Given the description of an element on the screen output the (x, y) to click on. 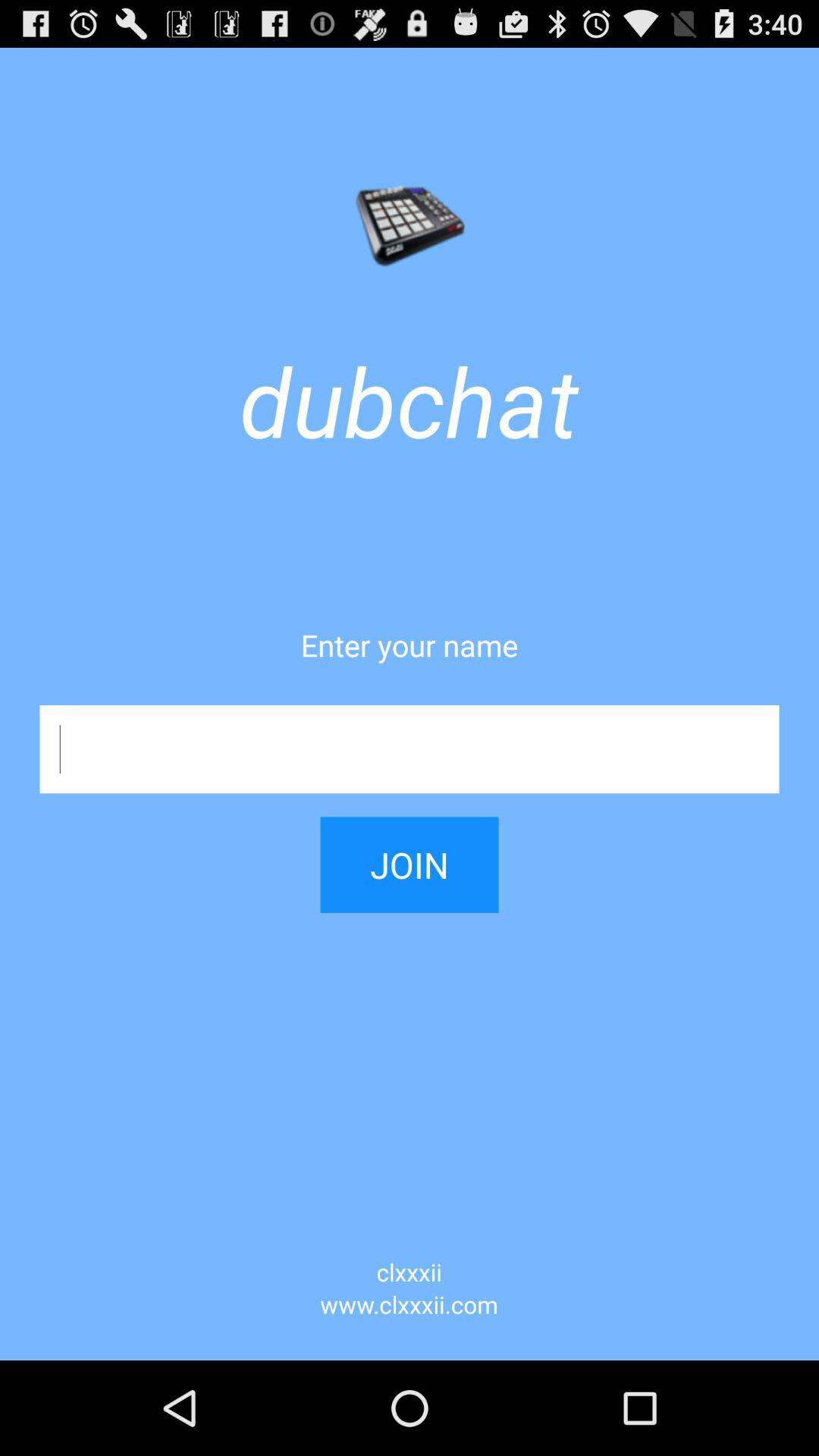
turn off item above the clxxxii icon (409, 851)
